Given the description of an element on the screen output the (x, y) to click on. 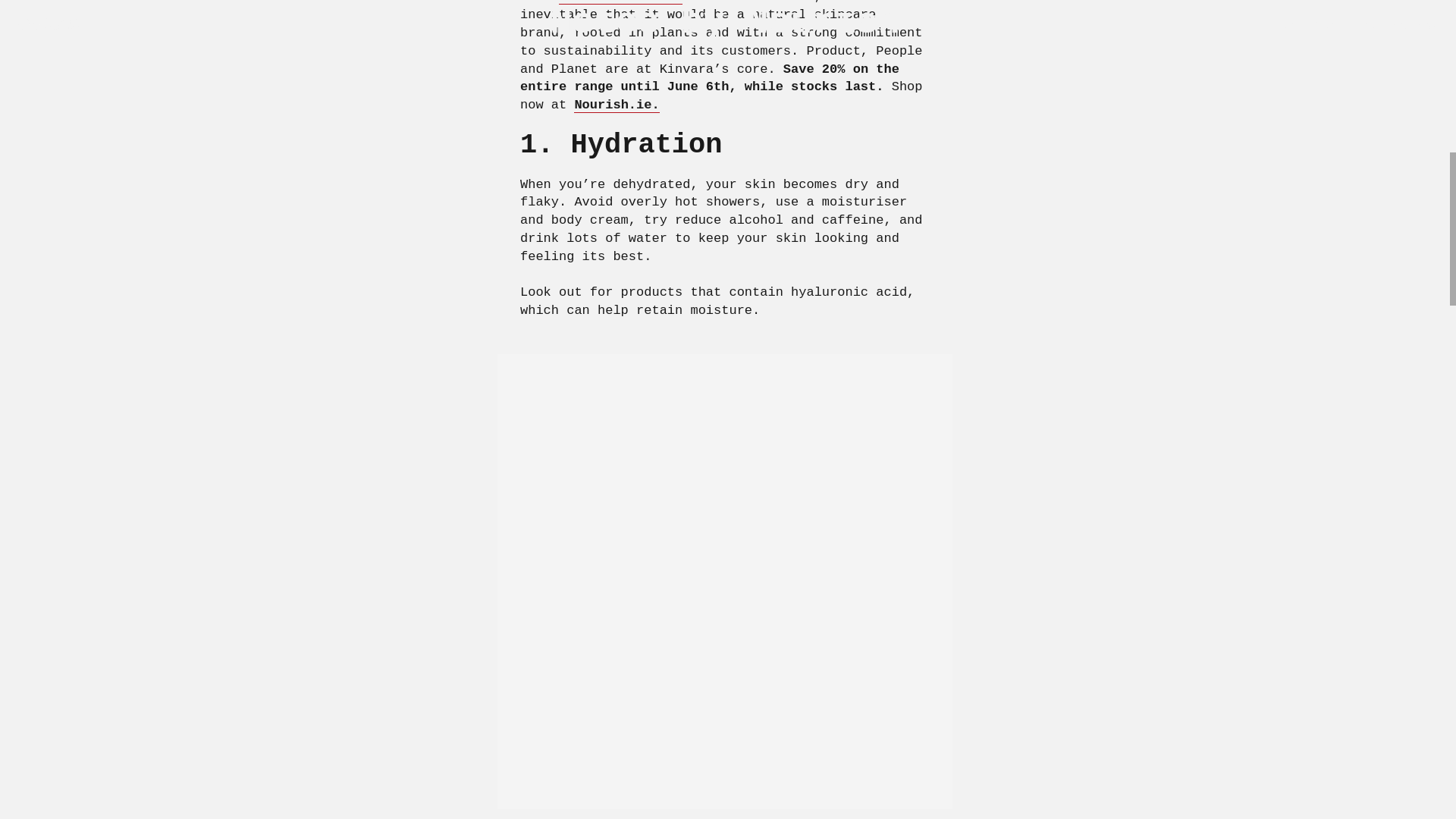
Nourish.ie. (616, 105)
Kinvara Skincare (620, 2)
